Given the description of an element on the screen output the (x, y) to click on. 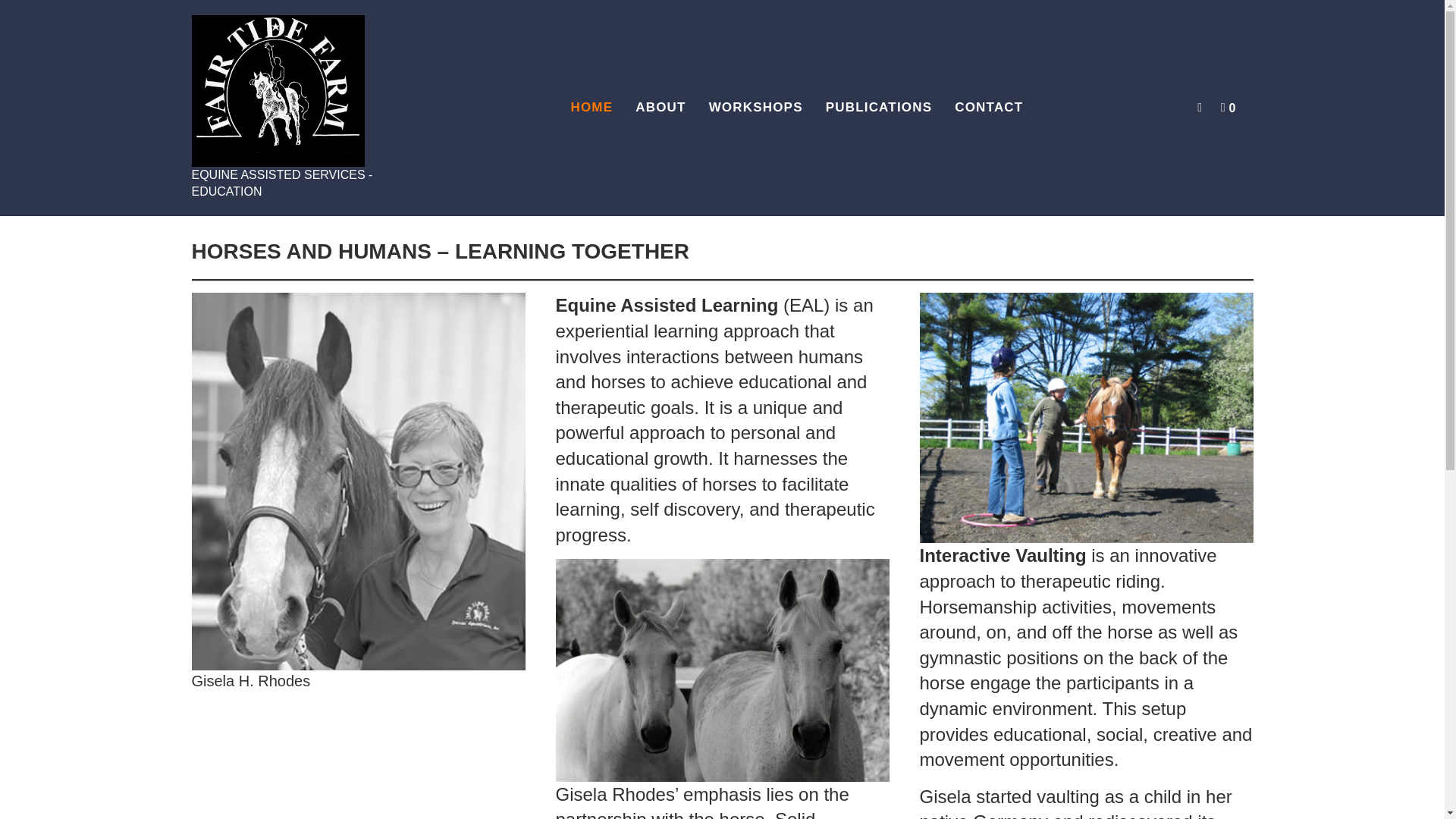
HOME (591, 107)
WORKSHOPS (755, 107)
CONTACT (988, 107)
PUBLICATIONS (878, 107)
Log in (1060, 309)
ABOUT (660, 107)
